Given the description of an element on the screen output the (x, y) to click on. 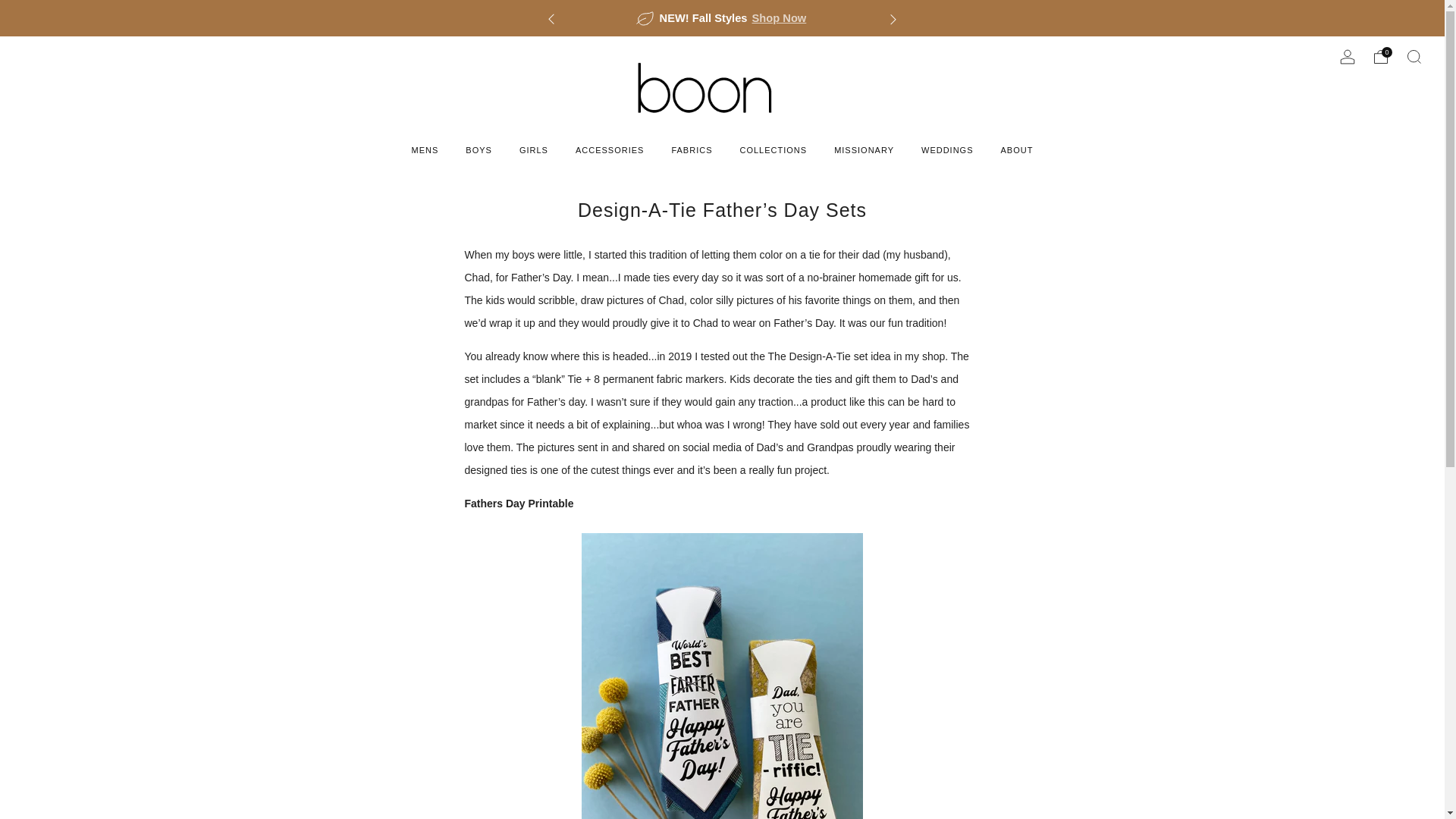
BOYS (478, 150)
Shop Now (779, 18)
MENS (425, 150)
Free Shipping with code "FALL" (1047, 18)
GIRLS (533, 150)
ACCESSORIES (609, 150)
FABRICS (691, 150)
